Given the description of an element on the screen output the (x, y) to click on. 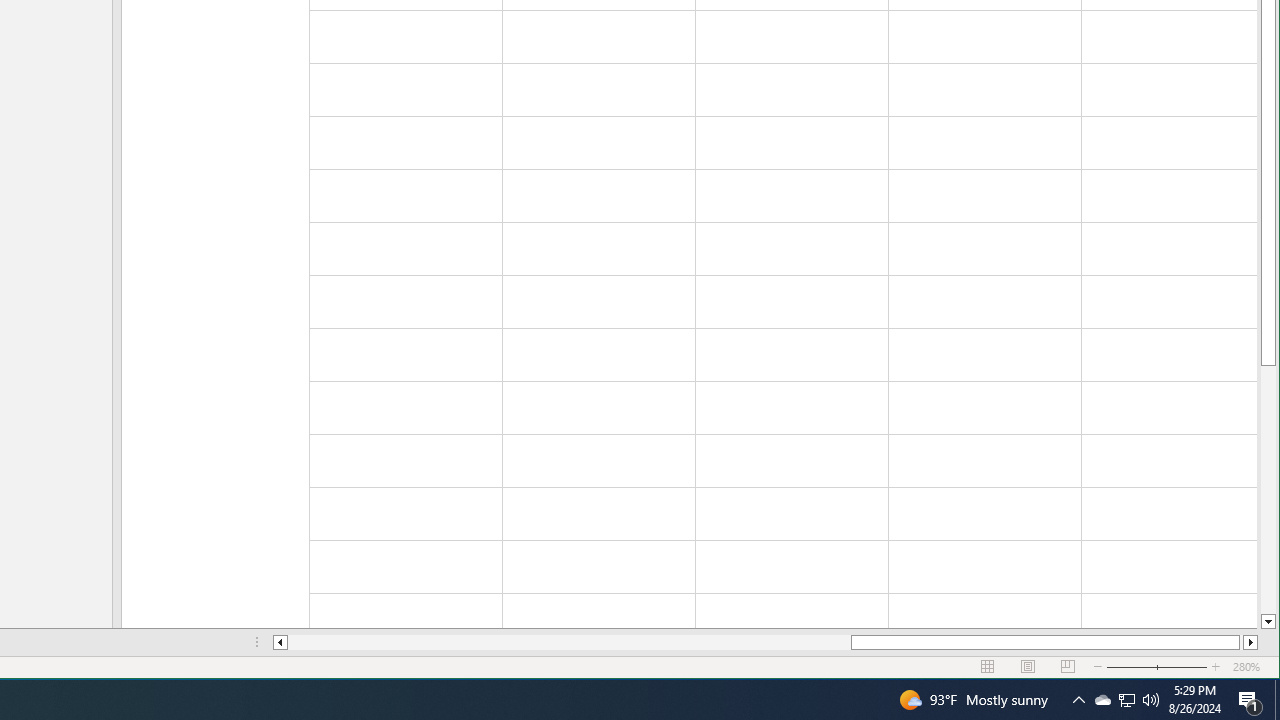
Zoom (1157, 667)
Q2790: 100% (1151, 699)
Notification Chevron (1078, 699)
Show desktop (1277, 699)
Page down (1268, 489)
